Given the description of an element on the screen output the (x, y) to click on. 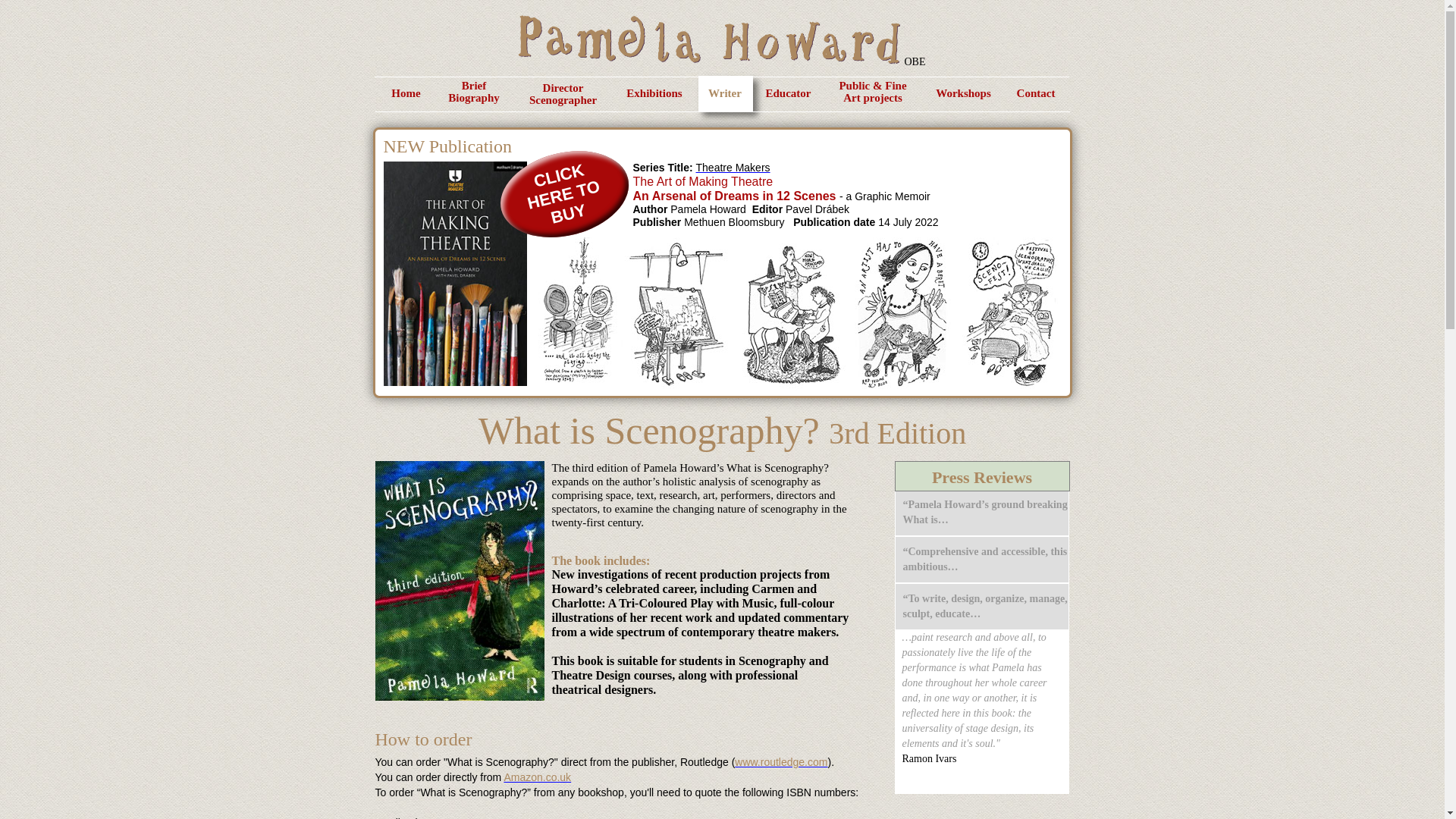
Exhibitions (653, 93)
Workshops (963, 93)
Educator (559, 181)
Home (788, 93)
Theatre Makers (405, 93)
Writer (732, 167)
Pamela Howard (724, 93)
Amazon.co.uk (708, 38)
www.routledge.com (536, 776)
Contact (781, 761)
